Given the description of an element on the screen output the (x, y) to click on. 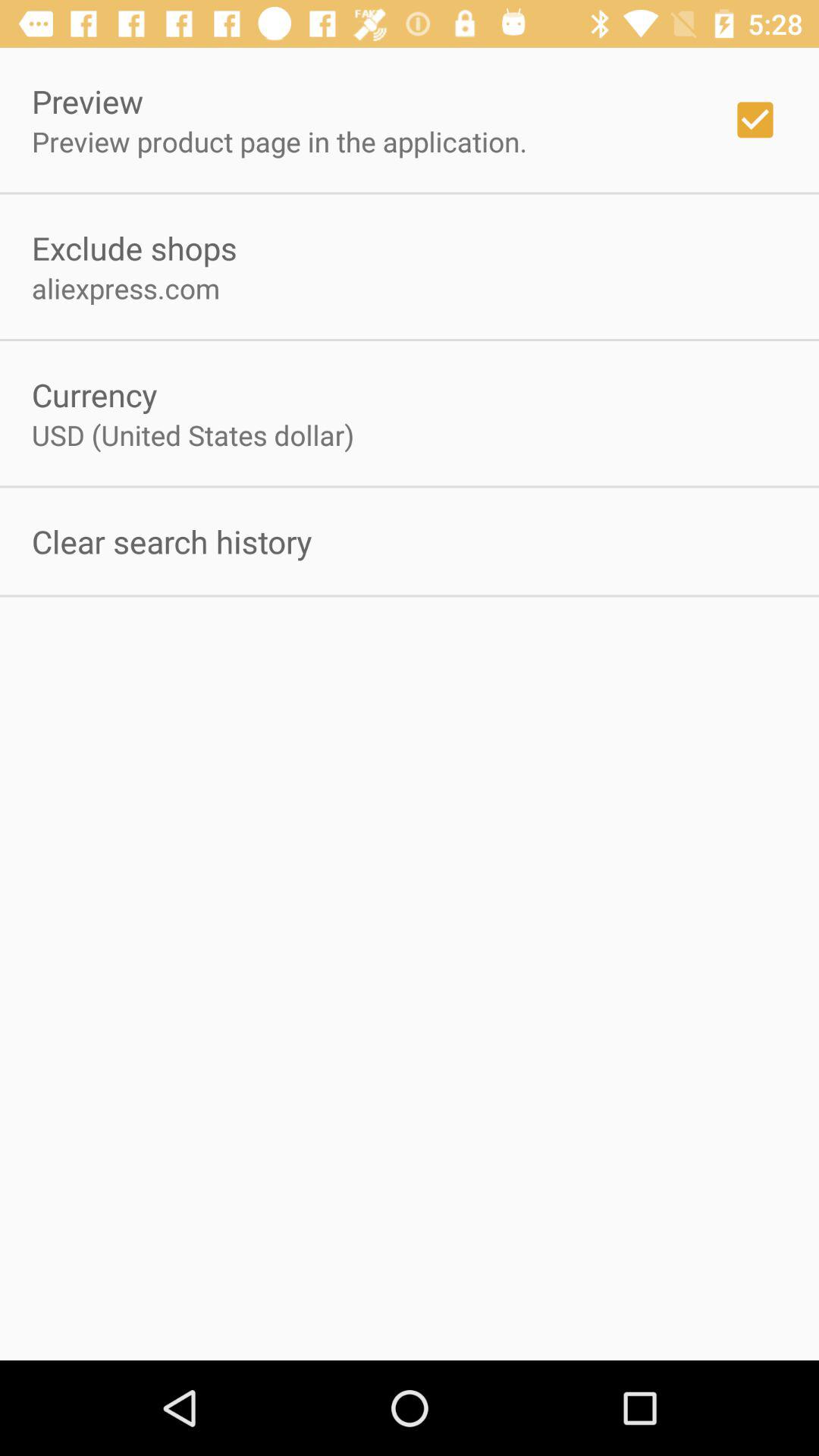
open item below the preview app (279, 141)
